Given the description of an element on the screen output the (x, y) to click on. 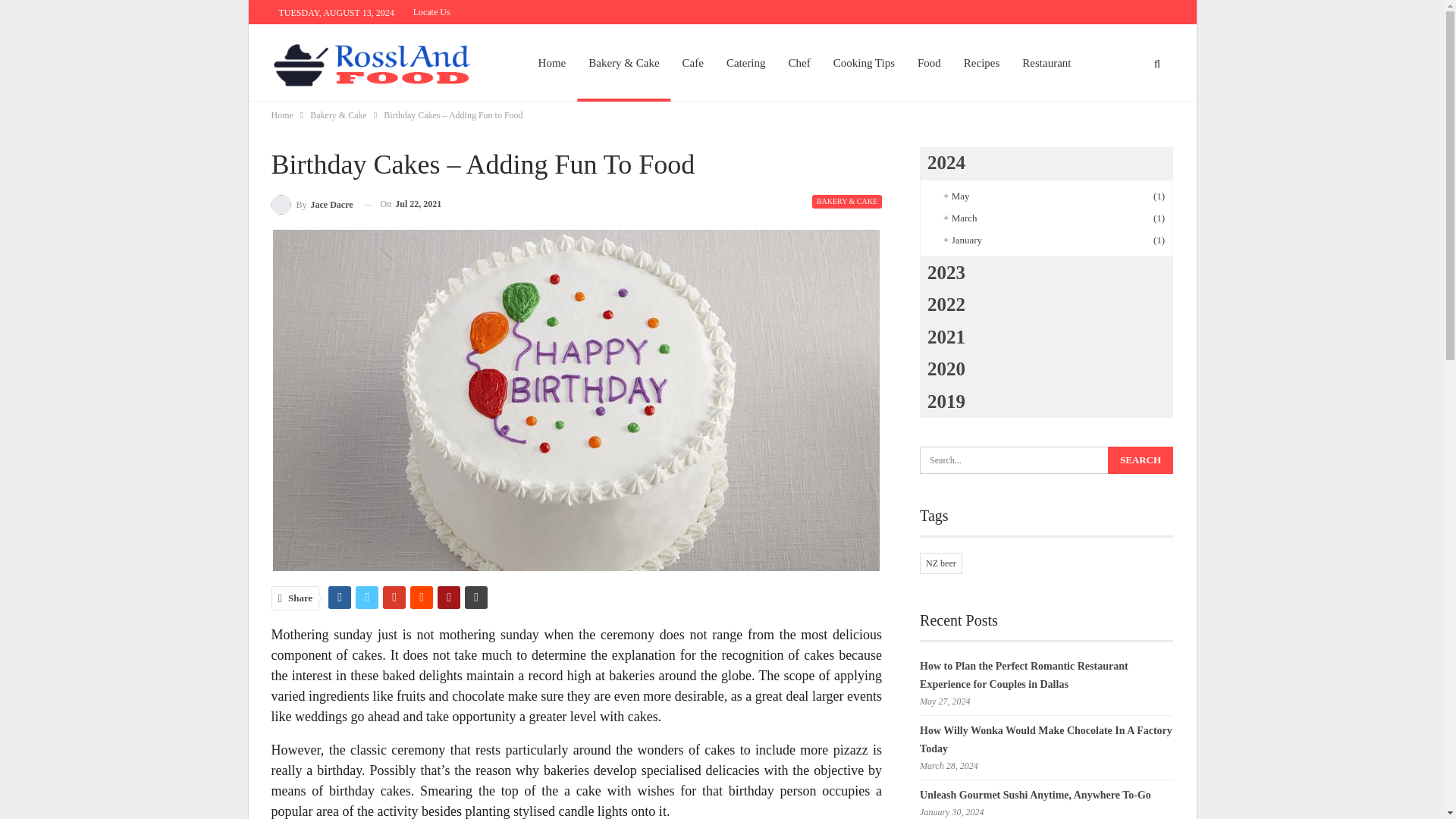
Locate Us (431, 11)
Search (1140, 460)
Browse Author Articles (311, 204)
Cooking Tips (863, 63)
Home (282, 115)
Search (1140, 460)
Search for: (1046, 460)
By Jace Dacre (311, 204)
Restaurant (1045, 63)
